Given the description of an element on the screen output the (x, y) to click on. 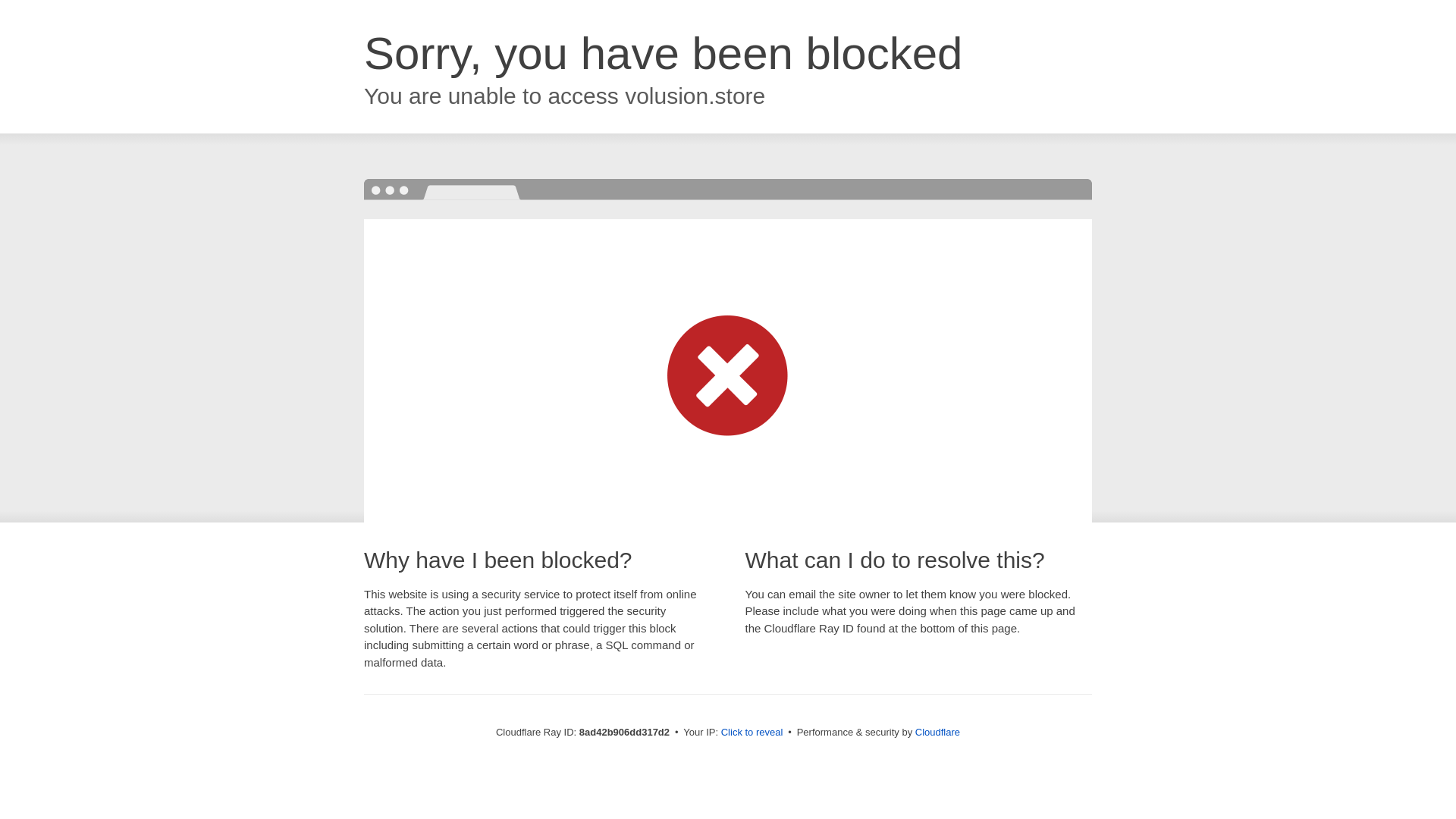
Cloudflare (937, 731)
Click to reveal (751, 732)
